Given the description of an element on the screen output the (x, y) to click on. 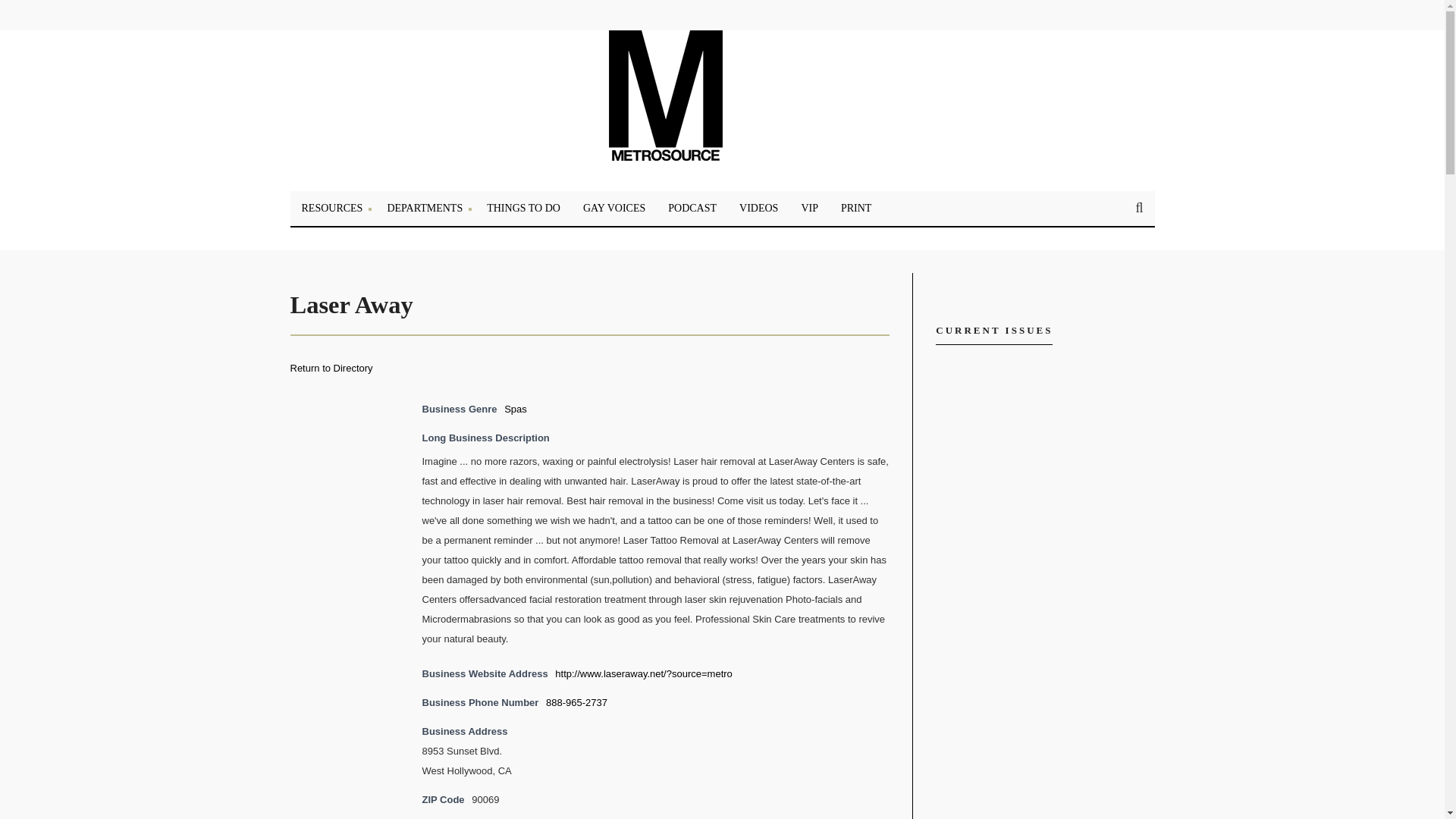
VIDEOS (758, 208)
888-965-2737 (576, 701)
THINGS TO DO (524, 208)
Spas (515, 408)
RESOURCES (332, 208)
VIP (809, 208)
Return to Directory (330, 367)
GAY VOICES (614, 208)
DEPARTMENTS (425, 208)
PODCAST (692, 208)
PRINT (855, 208)
